Given the description of an element on the screen output the (x, y) to click on. 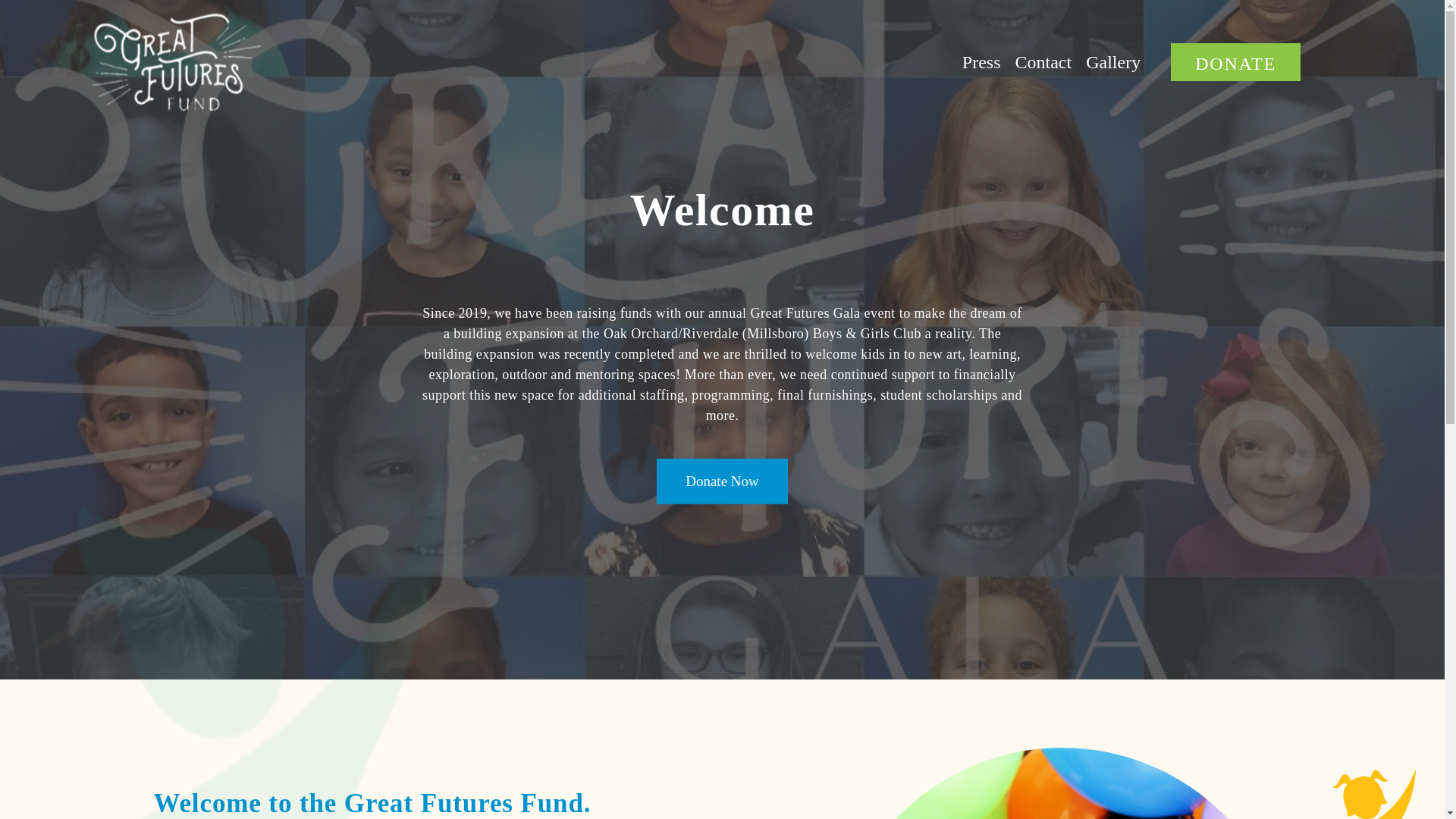
DONATE (1235, 62)
Gallery (1113, 61)
Donate Now (721, 481)
Contact (1044, 61)
Press (982, 61)
Great Futures Fund (176, 62)
